Given the description of an element on the screen output the (x, y) to click on. 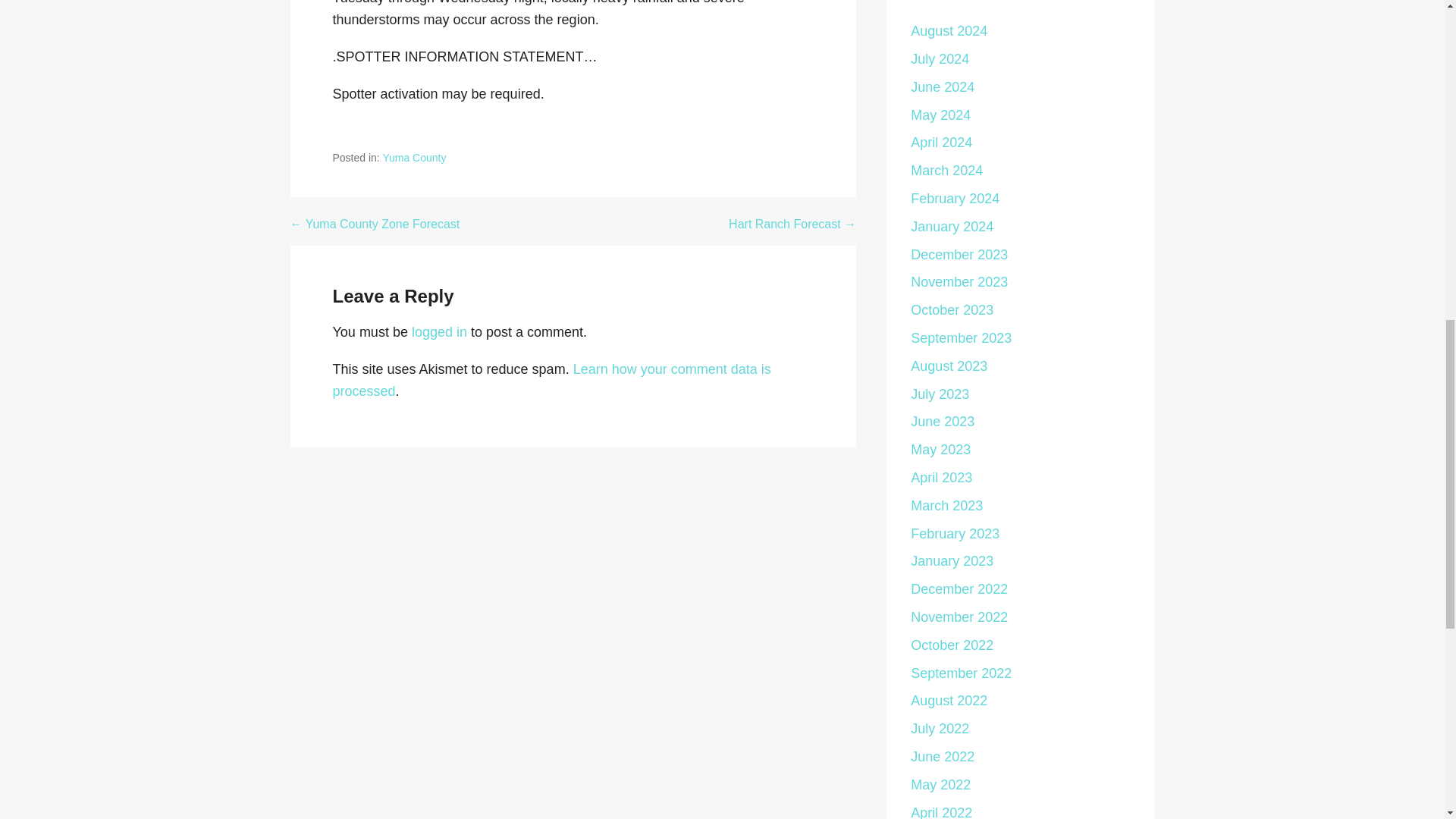
logged in (439, 331)
March 2024 (946, 170)
Learn how your comment data is processed (550, 379)
May 2024 (941, 114)
December 2023 (959, 254)
Yuma County (413, 157)
June 2024 (942, 87)
April 2024 (941, 142)
July 2024 (940, 58)
January 2024 (951, 226)
